Given the description of an element on the screen output the (x, y) to click on. 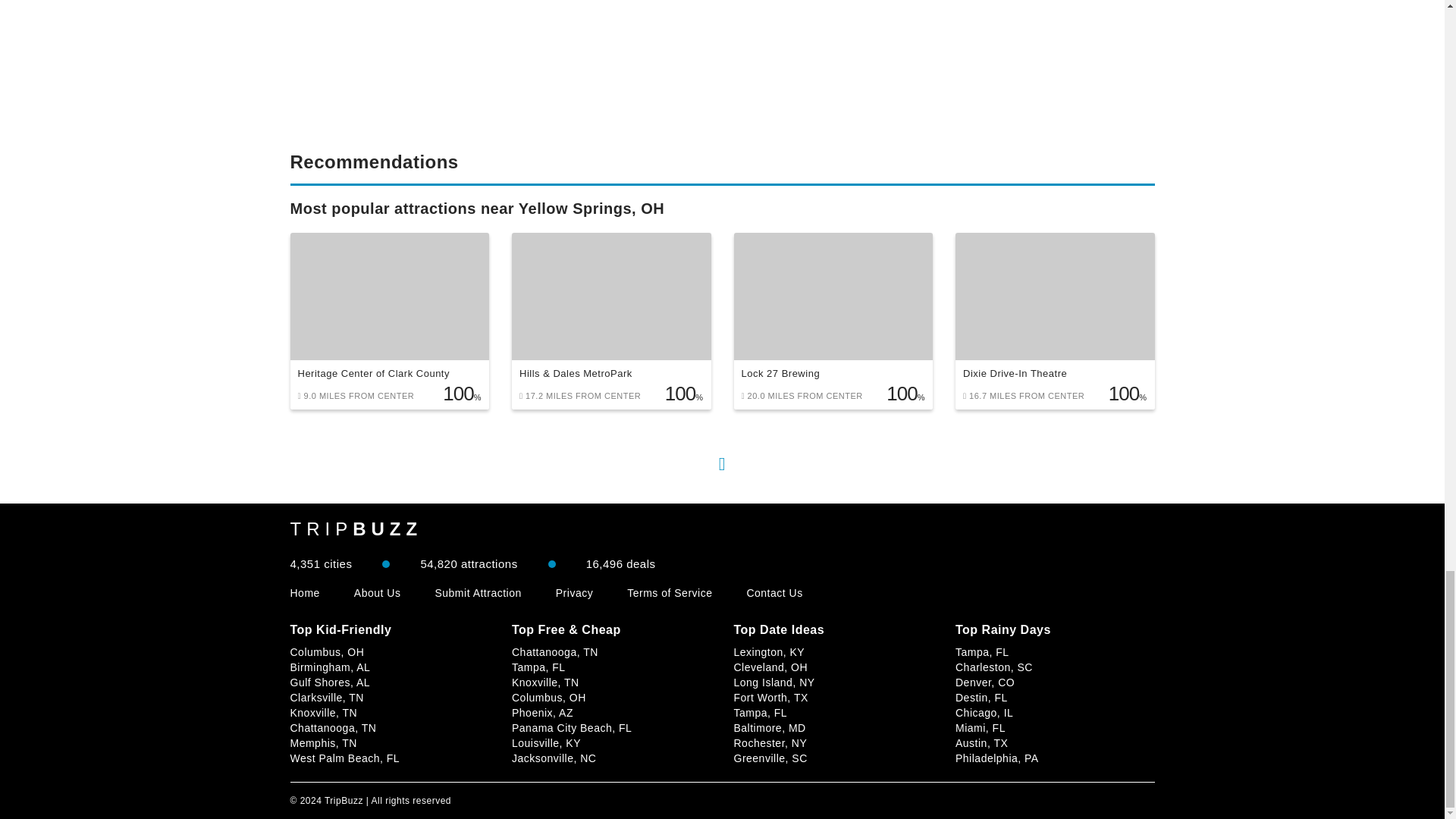
About (377, 592)
Privacy (574, 592)
Terms of Service (669, 592)
